Given the description of an element on the screen output the (x, y) to click on. 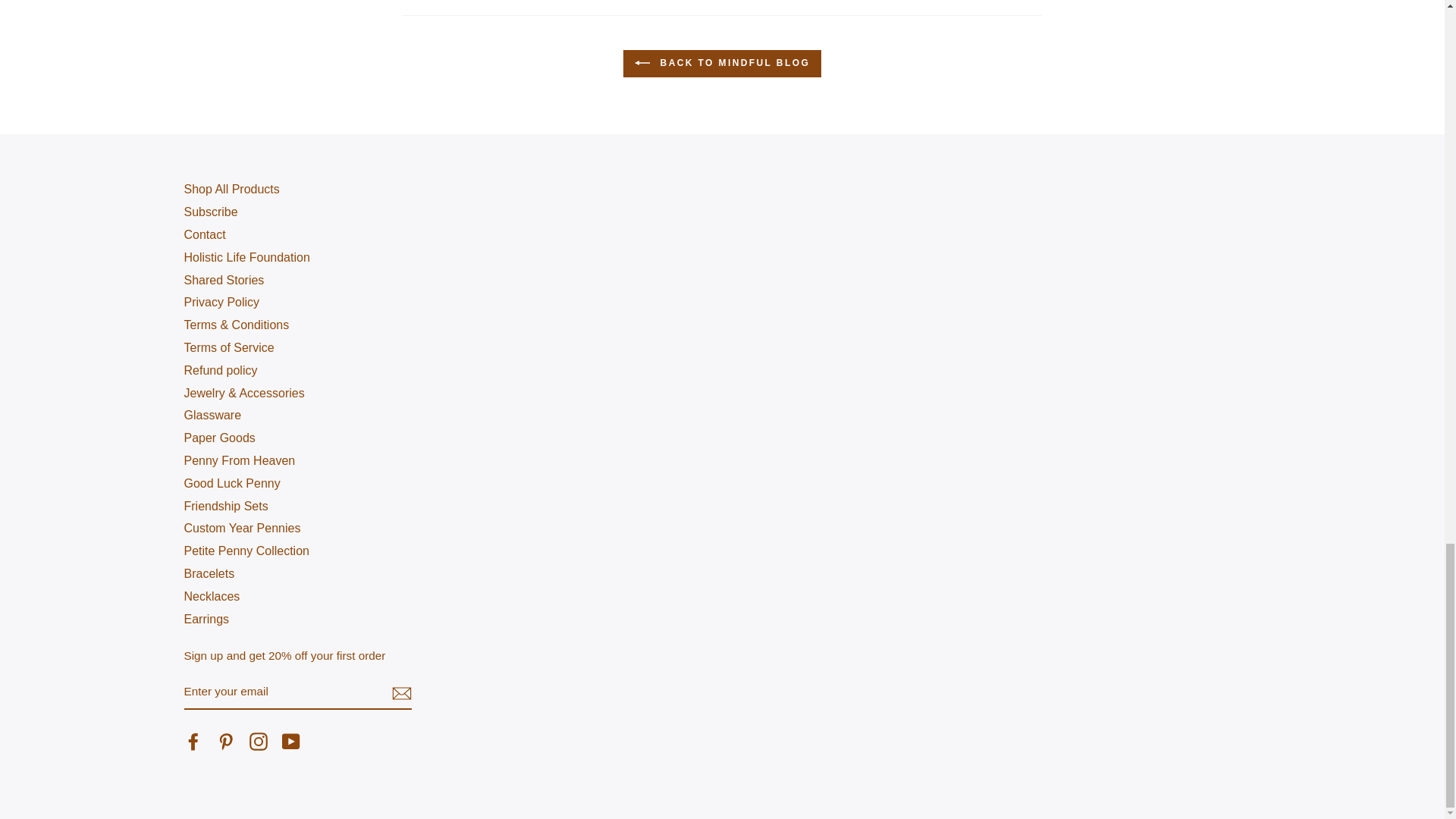
Studio Penny Lane on YouTube (290, 741)
Studio Penny Lane on Instagram (257, 741)
Studio Penny Lane on Facebook (192, 741)
Studio Penny Lane on Pinterest (225, 741)
